Given the description of an element on the screen output the (x, y) to click on. 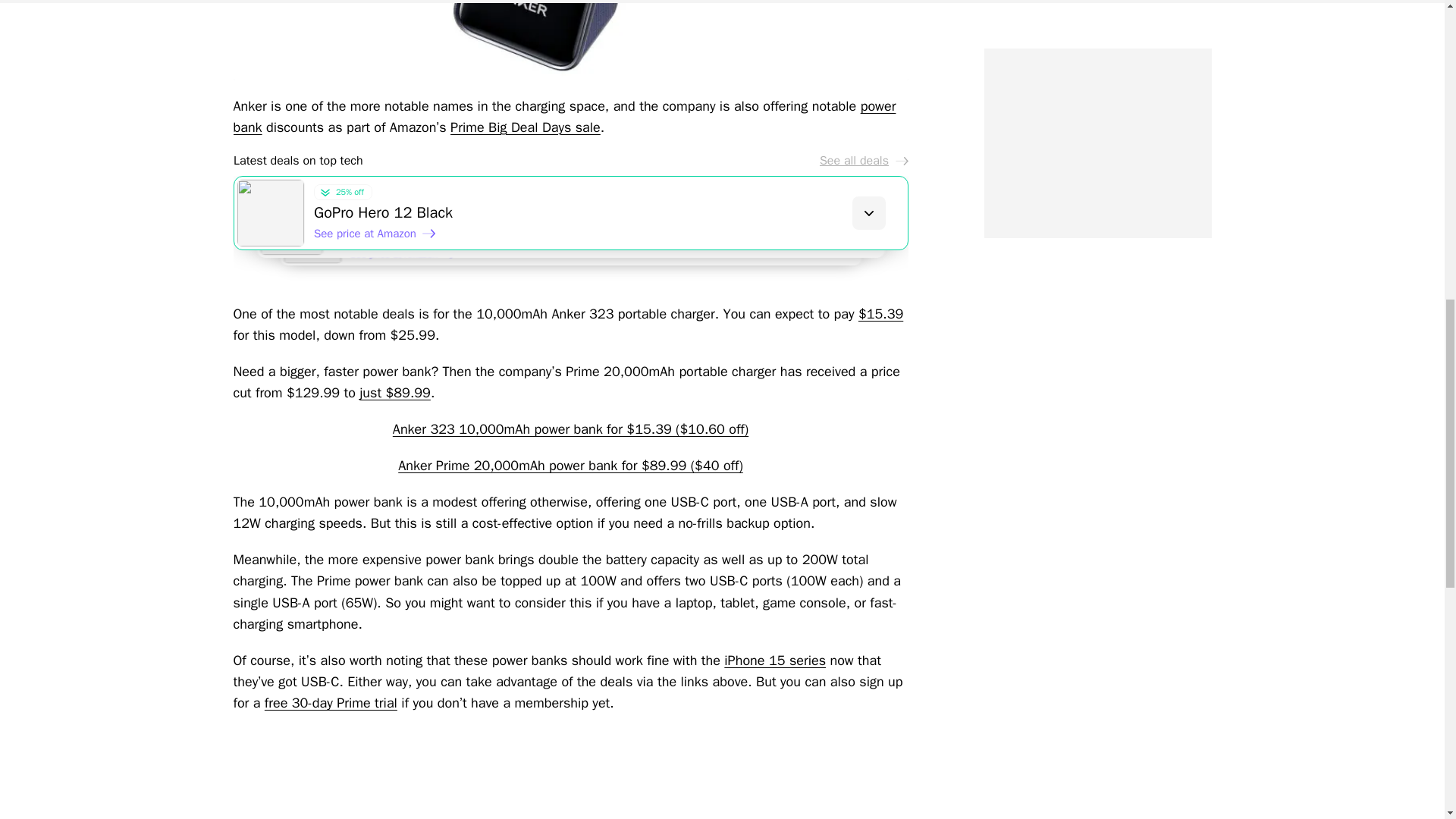
power bank (564, 116)
GoPro Hero 12 Black (609, 212)
See price at Amazon (409, 258)
Prime Big Deal Days sale (524, 126)
GravaStar Alpha65 GaN 65W Wall Charger (644, 247)
See price at Amazon (374, 233)
UGREEN Uno Charger 65W (627, 230)
See all deals (862, 160)
See price at Amazon (391, 246)
Anker Prime 20000mAh Power Bank (570, 40)
